Given the description of an element on the screen output the (x, y) to click on. 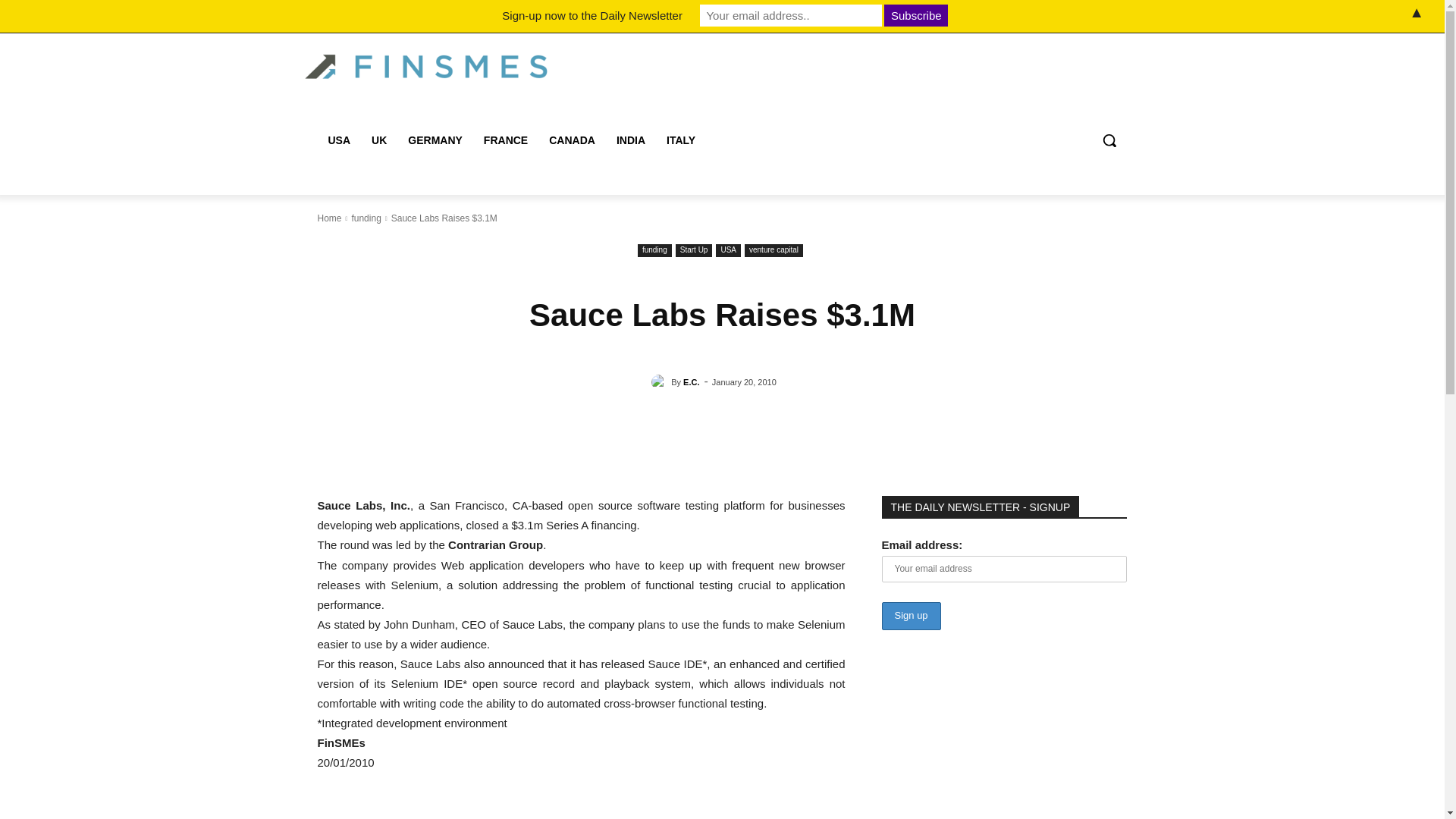
Sign up (910, 615)
Start Up (694, 250)
Subscribe (915, 15)
INDIA (630, 140)
funding (654, 250)
UK (379, 140)
FRANCE (505, 140)
GERMANY (435, 140)
USA (339, 140)
venture capital (773, 250)
